Given the description of an element on the screen output the (x, y) to click on. 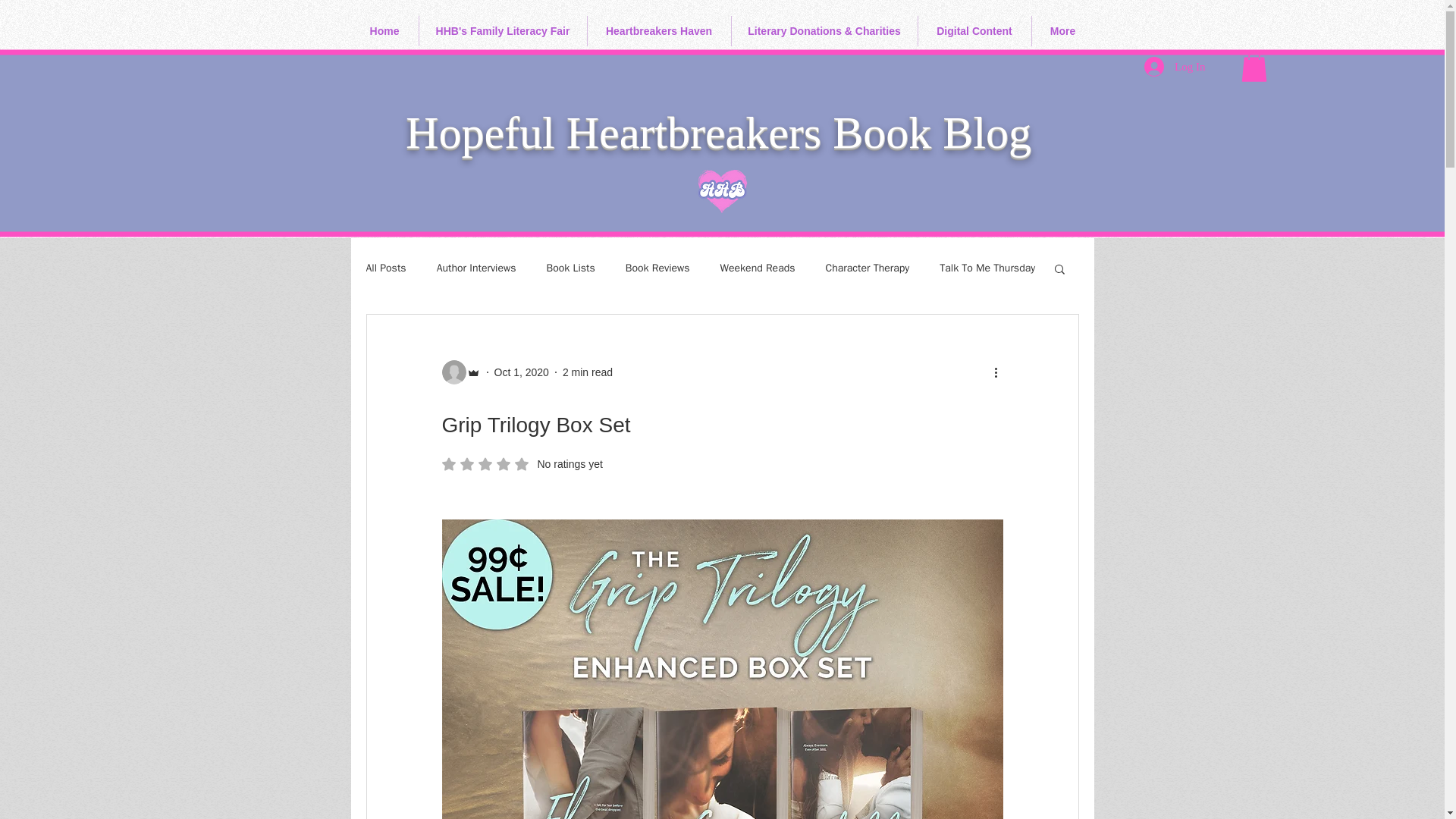
Weekend Reads (757, 268)
Author Interviews (521, 463)
Heartbreakers Haven (476, 268)
Talk To Me Thursday (658, 30)
Character Therapy (987, 268)
Book Reviews (867, 268)
Log In (658, 268)
Digital Content (1174, 66)
All Posts (973, 30)
2 min read (385, 268)
Home (587, 371)
HHB's Family Literacy Fair (383, 30)
Oct 1, 2020 (502, 30)
Book Lists (521, 371)
